Given the description of an element on the screen output the (x, y) to click on. 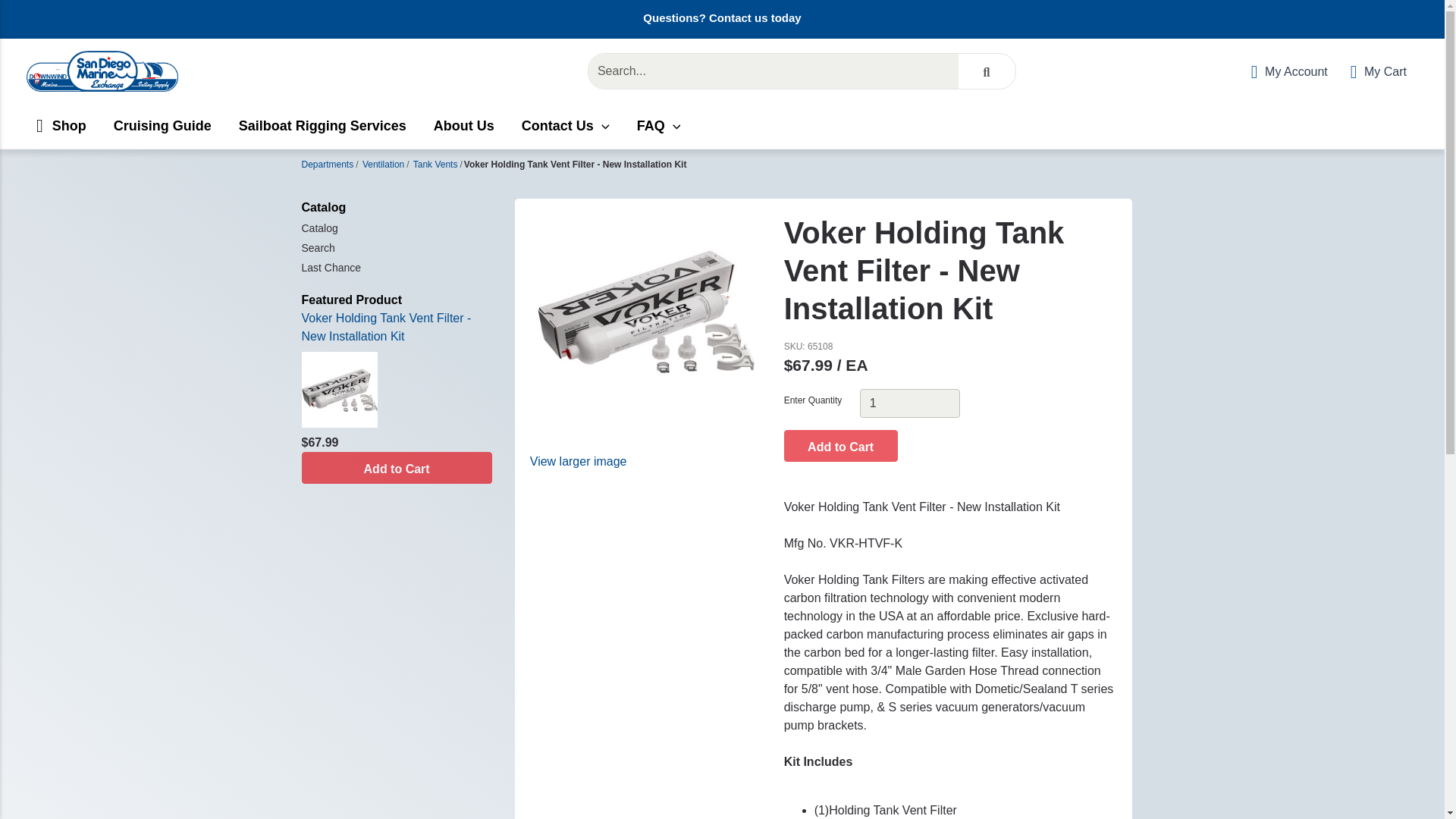
Cruising Guide (162, 125)
Questions? Contact us today (721, 17)
Departments (327, 163)
My Cart (1378, 71)
1 (910, 403)
About Us (464, 125)
Search (396, 246)
Voker Holding Tank Vent Filter - New Installation Kit (386, 327)
Contact Us (565, 125)
Tank Vents (435, 163)
